Given the description of an element on the screen output the (x, y) to click on. 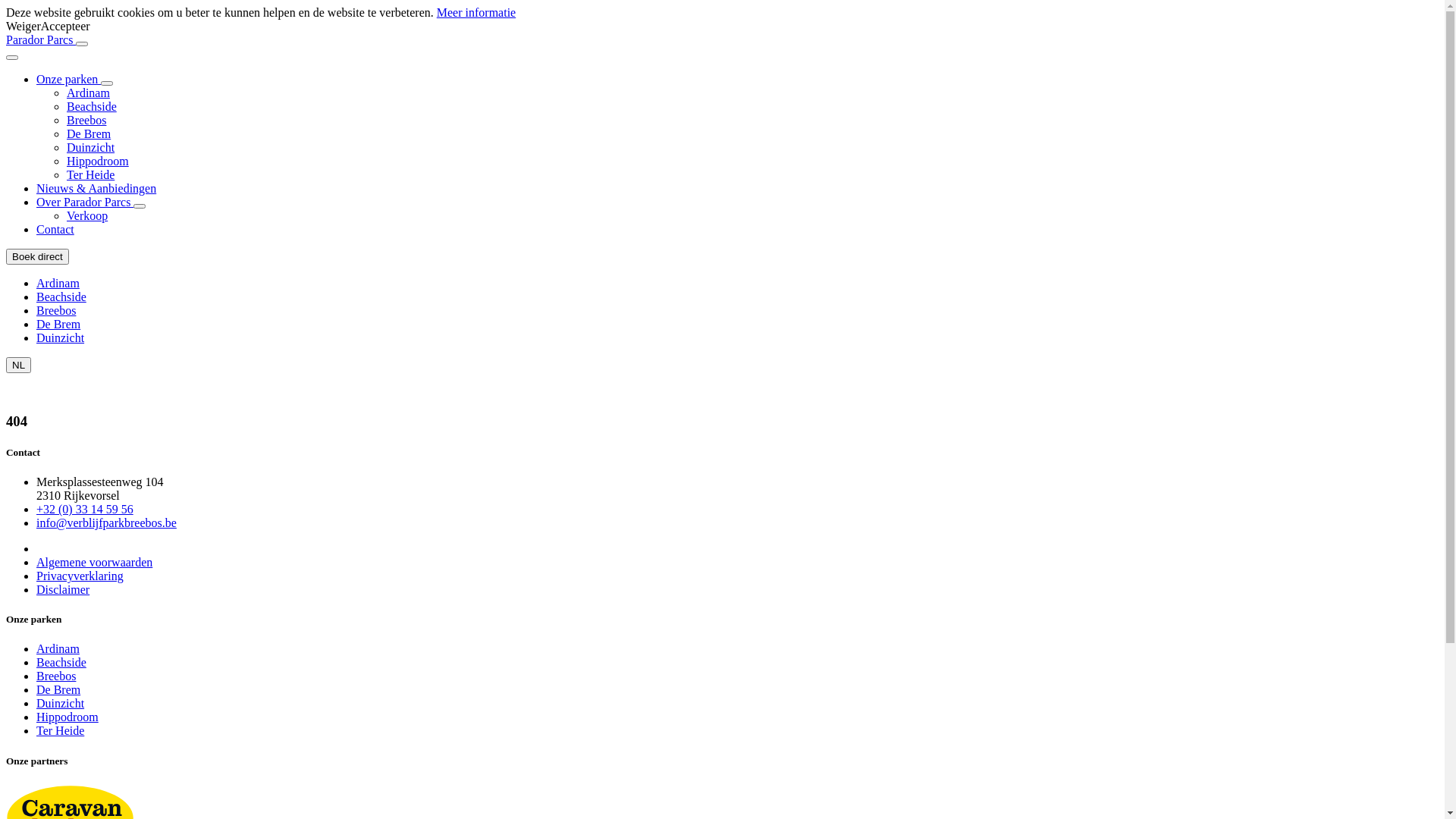
Contact Element type: text (55, 228)
Hippodroom Element type: text (67, 716)
Beachside Element type: text (91, 106)
+32 (0) 33 14 59 56 Element type: text (84, 508)
Disclaimer Element type: text (62, 589)
Weiger Element type: text (23, 25)
Over Parador Parcs Element type: text (84, 201)
Parador Parcs Element type: text (40, 39)
Privacyverklaring Element type: text (79, 575)
Beachside Element type: text (61, 661)
Ter Heide Element type: text (90, 174)
De Brem Element type: text (58, 323)
Ter Heide Element type: text (60, 730)
De Brem Element type: text (88, 133)
Verkoop Element type: text (86, 215)
Breebos Element type: text (86, 119)
Meer informatie Element type: text (475, 12)
Nieuws & Aanbiedingen Element type: text (96, 188)
Boek direct Element type: text (37, 256)
info@verblijfparkbreebos.be Element type: text (106, 522)
Breebos Element type: text (55, 675)
De Brem Element type: text (58, 689)
Duinzicht Element type: text (60, 702)
Accepteer Element type: text (65, 25)
Hippodroom Element type: text (97, 160)
Ardinam Element type: text (87, 92)
Duinzicht Element type: text (90, 147)
Beachside Element type: text (61, 296)
Breebos Element type: text (55, 310)
Ardinam Element type: text (57, 648)
Ardinam Element type: text (57, 282)
NL Element type: text (18, 365)
Duinzicht Element type: text (60, 337)
Onze parken Element type: text (68, 78)
Algemene voorwaarden Element type: text (94, 561)
